Given the description of an element on the screen output the (x, y) to click on. 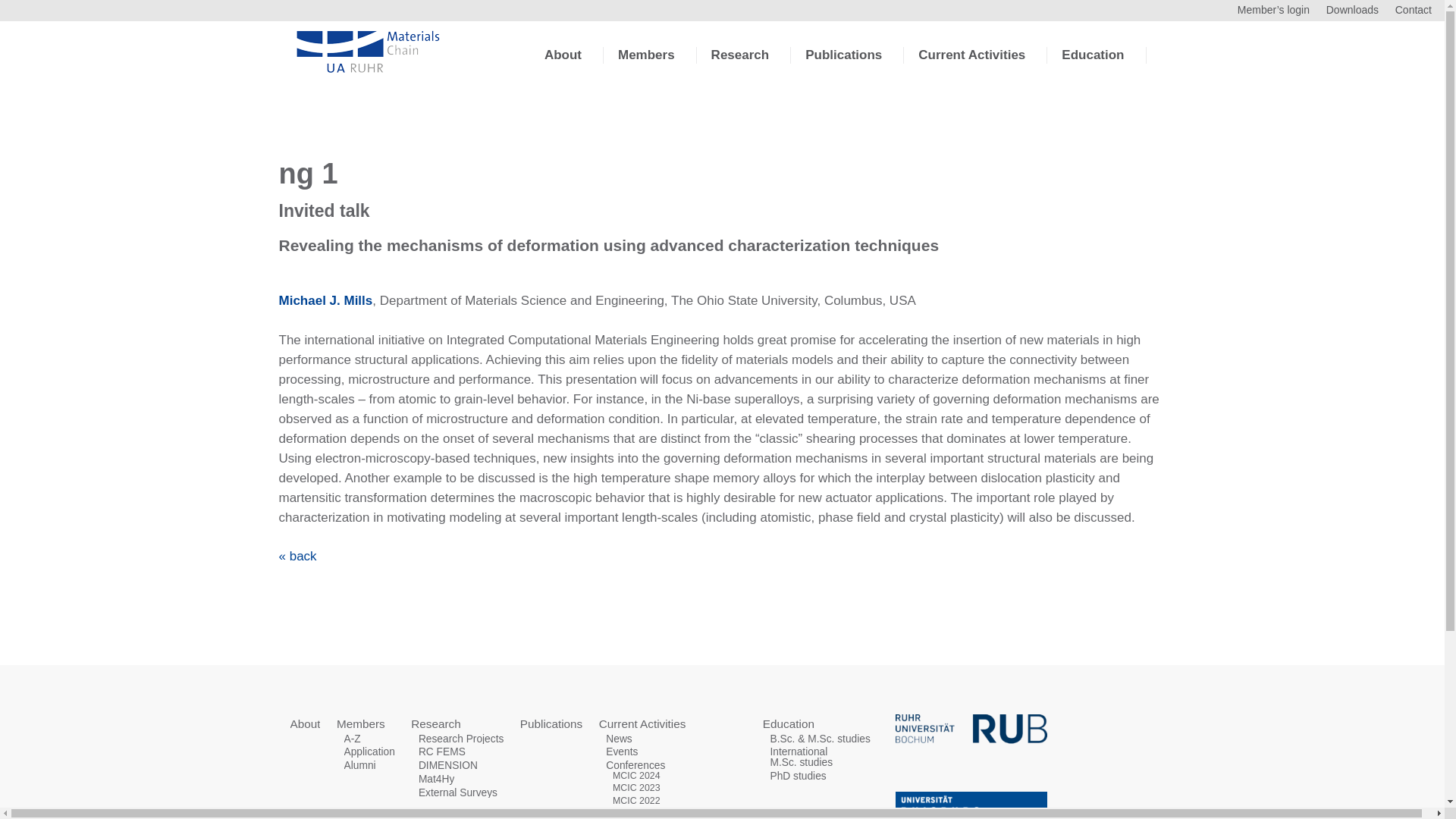
Publications (843, 66)
About (304, 723)
Application (368, 751)
Current Activities (971, 66)
Education (1092, 66)
About (562, 66)
Members (360, 723)
Research (740, 66)
Contact (1412, 9)
Downloads (1352, 9)
Members (646, 66)
A-Z (352, 737)
